Given the description of an element on the screen output the (x, y) to click on. 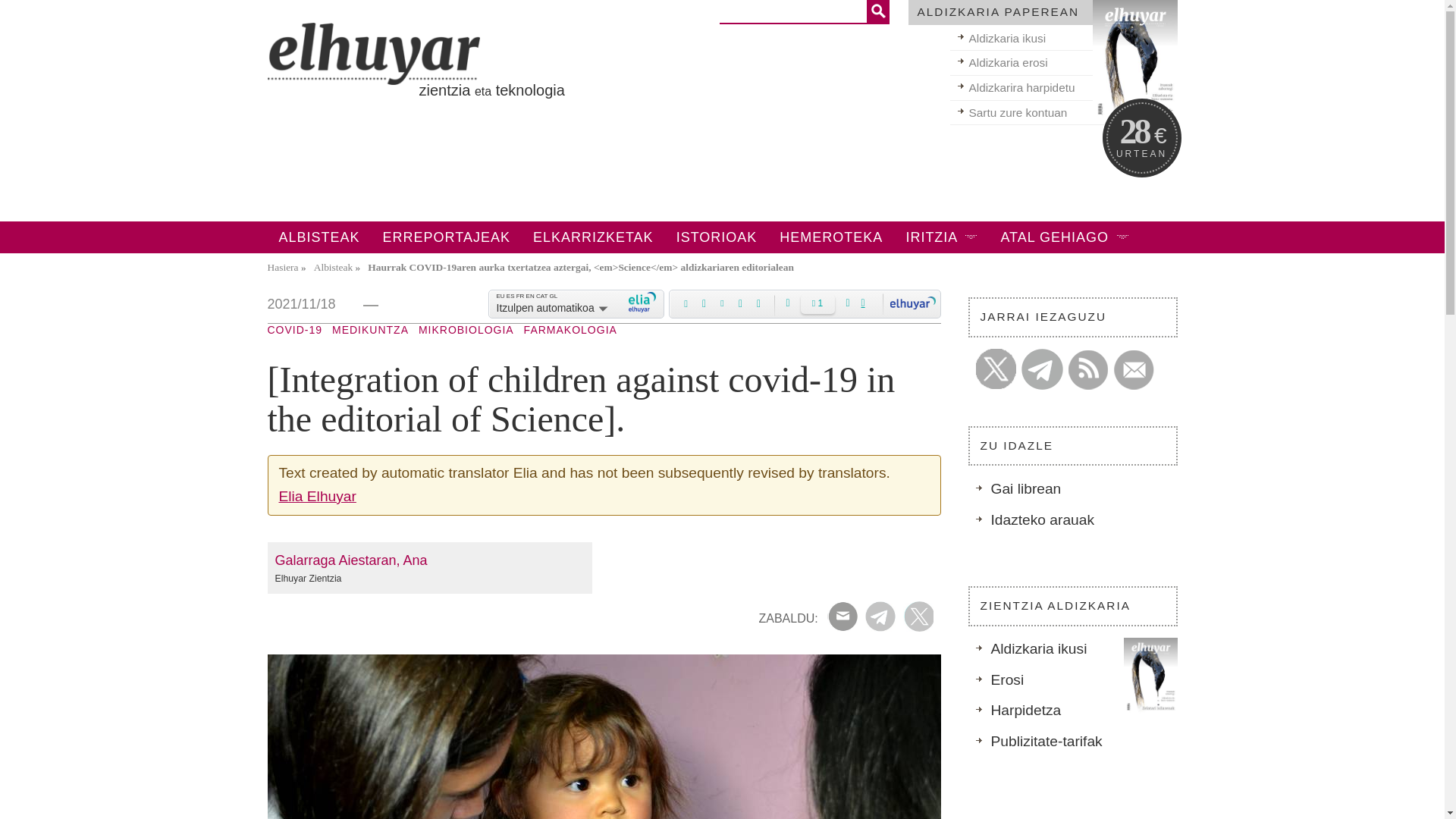
ELKARRIZKETAK (593, 237)
IRITZIA (940, 237)
ERREPORTAJEAK (446, 237)
HEMEROTEKA (830, 237)
Aldizkaria erosi (1062, 63)
Hasiera (282, 266)
3rd party ad content (634, 173)
ISTORIOAK (716, 237)
Irakurketaren abiadura (817, 303)
ALBISTEAK (318, 237)
Albisteak (333, 266)
Sartu zure kontuan (1062, 113)
Aldizkarira harpidetu (1062, 88)
URTEAN (1141, 153)
Aldizkaria ikusi (1062, 38)
